Given the description of an element on the screen output the (x, y) to click on. 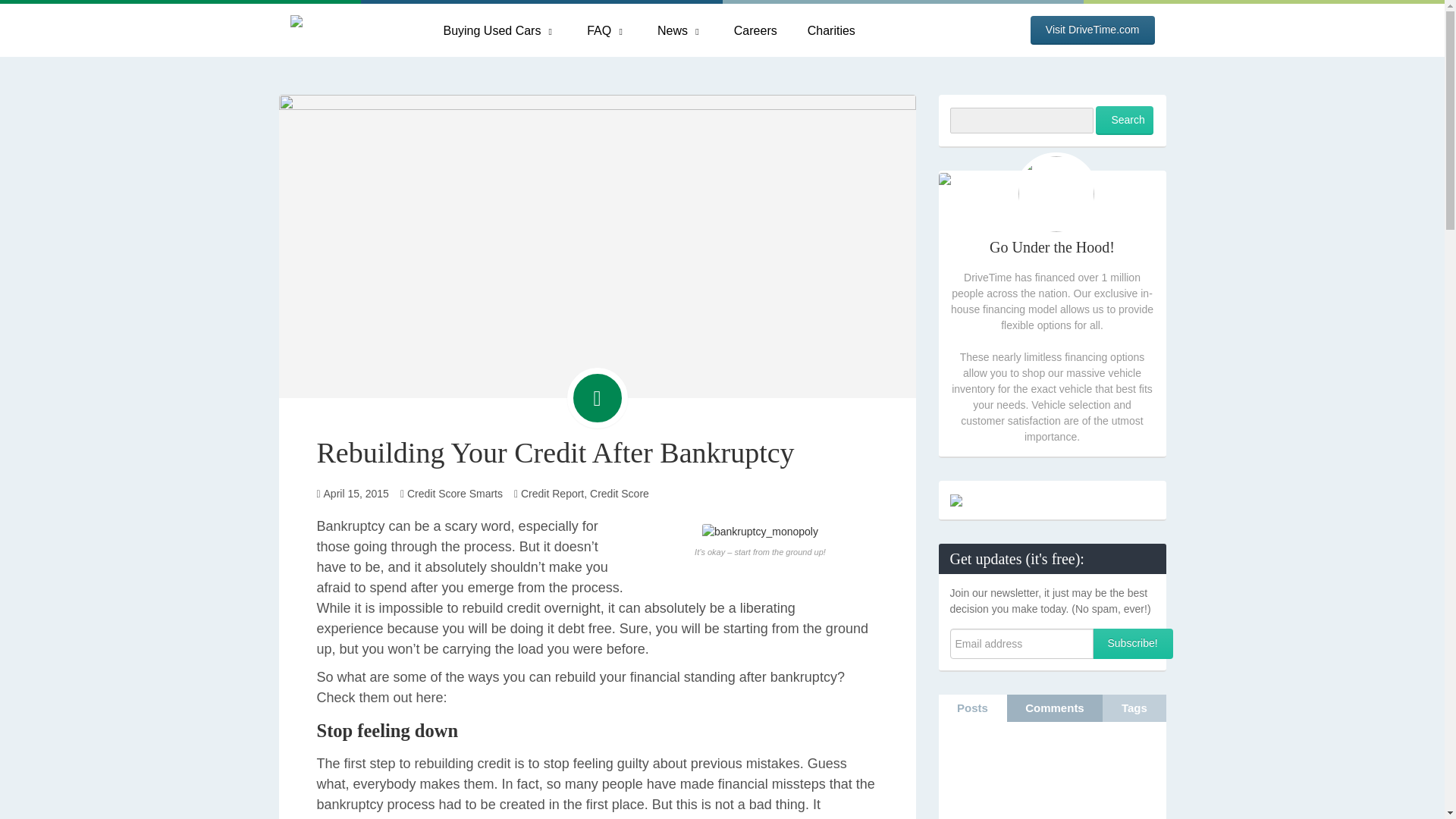
Careers (755, 29)
Visit DriveTime.com (1092, 30)
Permalink to Rebuilding Your Credit After Bankruptcy (597, 245)
News (680, 30)
Credit Report (552, 493)
View all posts in Credit Score Smarts (454, 493)
Buying Used Cars (500, 30)
Credit Score Smarts (454, 493)
DriveTime Blog (346, 30)
Charities (831, 29)
